Given the description of an element on the screen output the (x, y) to click on. 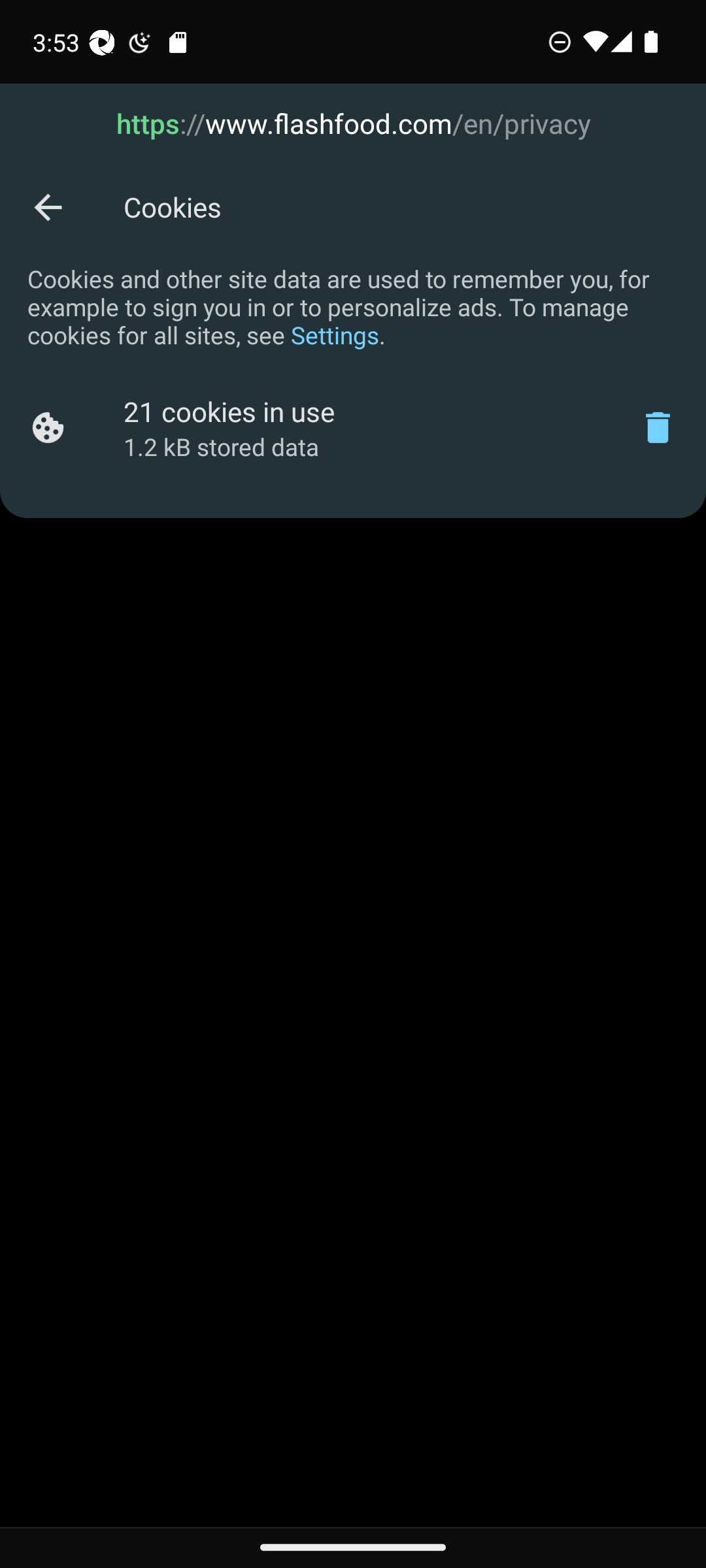
https://www.flashfood.com/en/privacy (353, 124)
Back (47, 206)
